Given the description of an element on the screen output the (x, y) to click on. 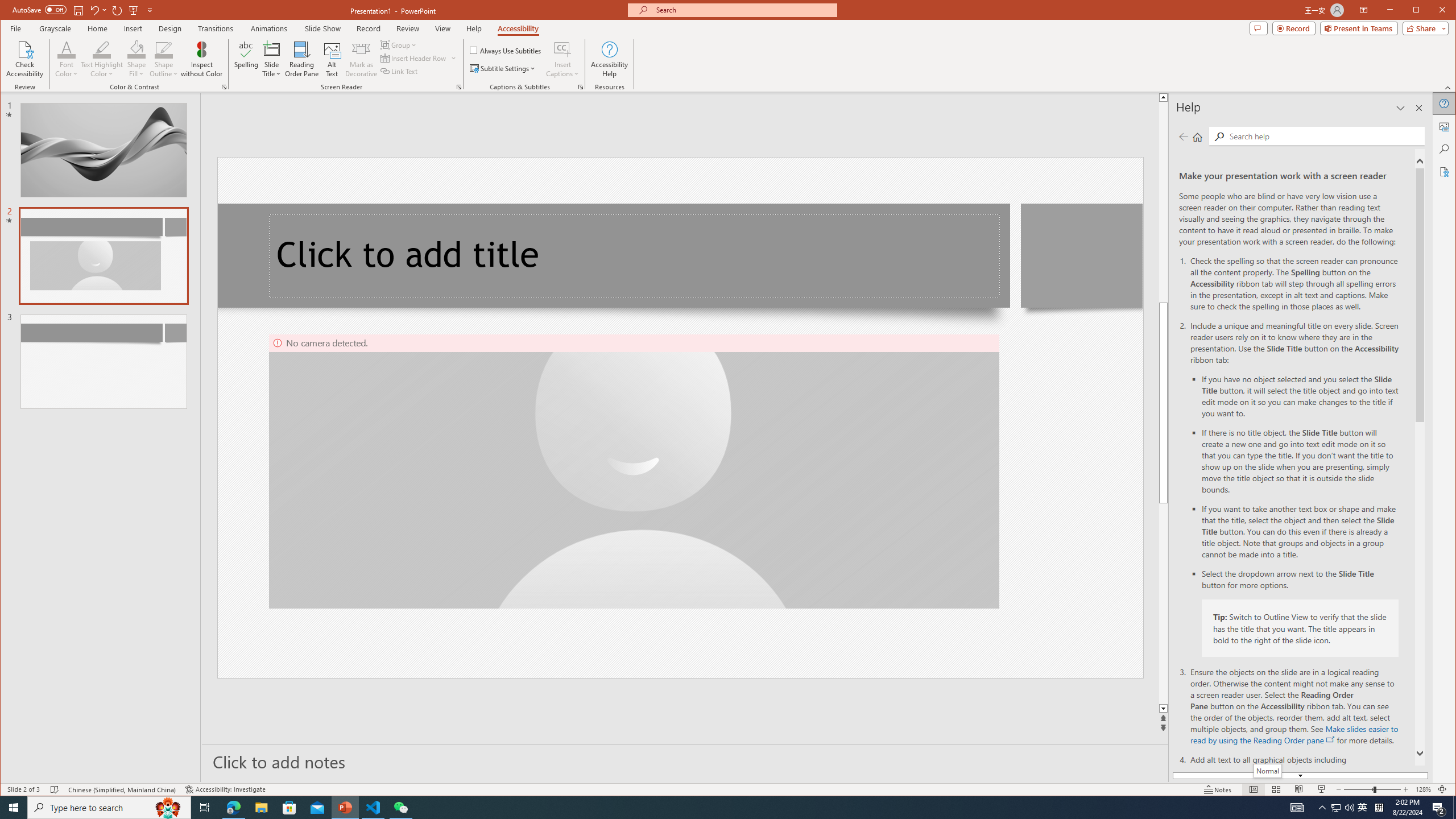
Notification Chevron (1322, 807)
Design (170, 28)
Present in Teams (1358, 28)
Camera 4, No camera detected. (633, 471)
View (443, 28)
Accessibility (1444, 171)
Task Pane Options (1400, 107)
Search highlights icon opens search home window (167, 807)
Shape Outline (163, 59)
Shape Fill (136, 59)
Zoom 128% (1422, 789)
